Given the description of an element on the screen output the (x, y) to click on. 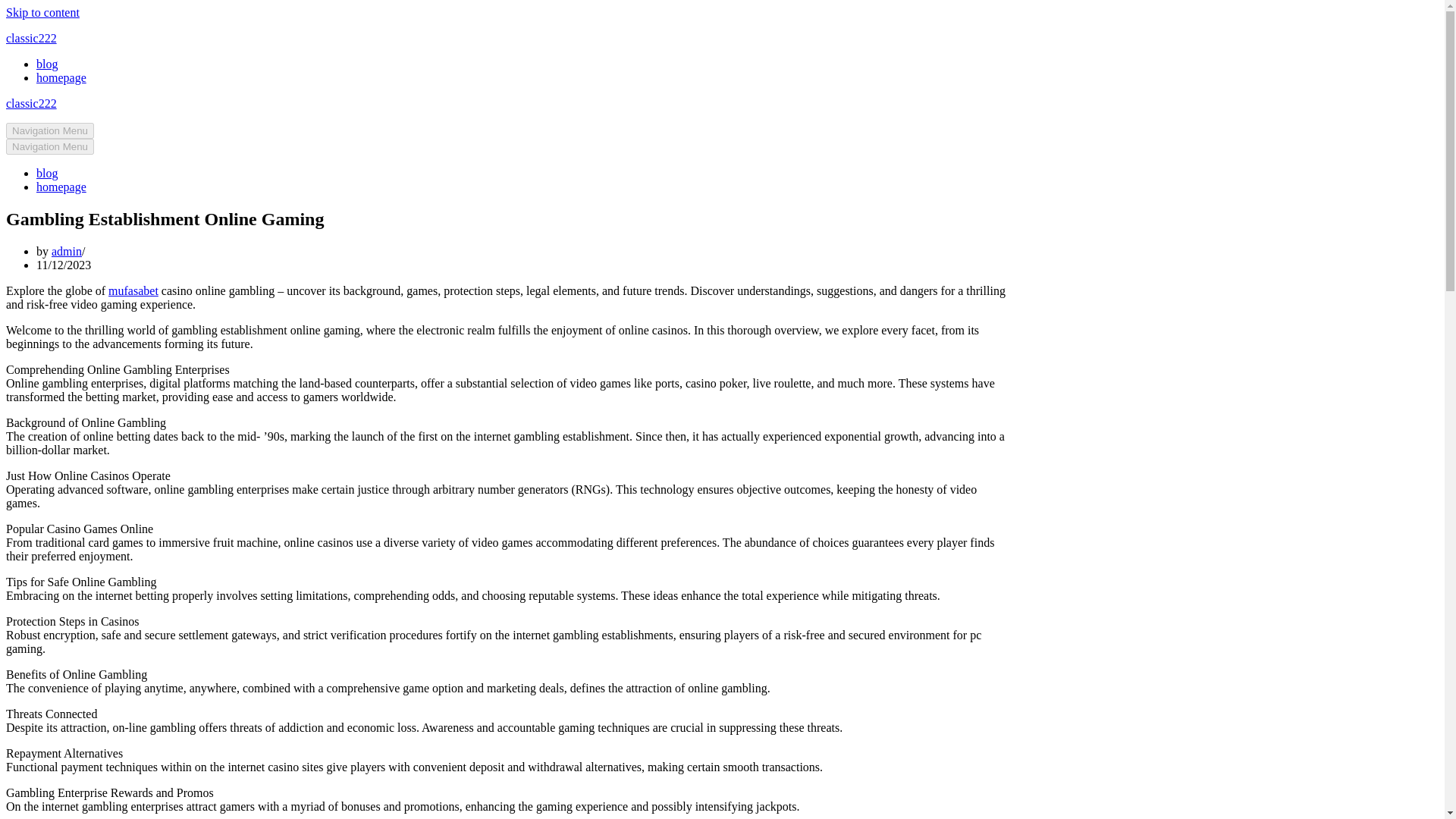
Posts by admin (65, 250)
homepage (60, 186)
mufasabet (132, 290)
Navigation Menu (49, 130)
Navigation Menu (49, 146)
Skip to content (42, 11)
blog (47, 63)
admin (65, 250)
homepage (60, 77)
blog (47, 173)
